Given the description of an element on the screen output the (x, y) to click on. 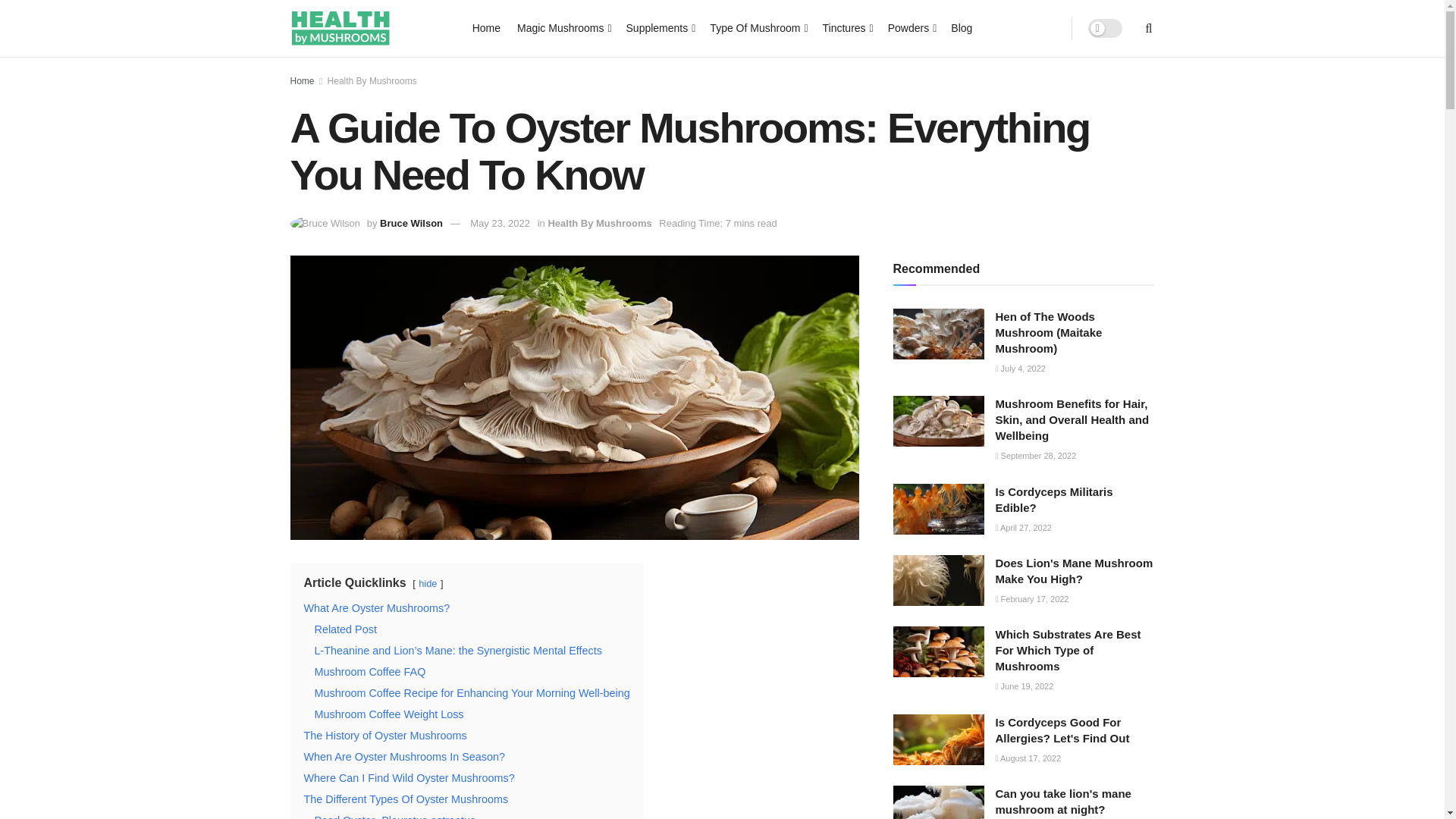
Magic Mushrooms (563, 27)
Home (485, 27)
Type Of Mushroom (757, 27)
Supplements (660, 27)
